Given the description of an element on the screen output the (x, y) to click on. 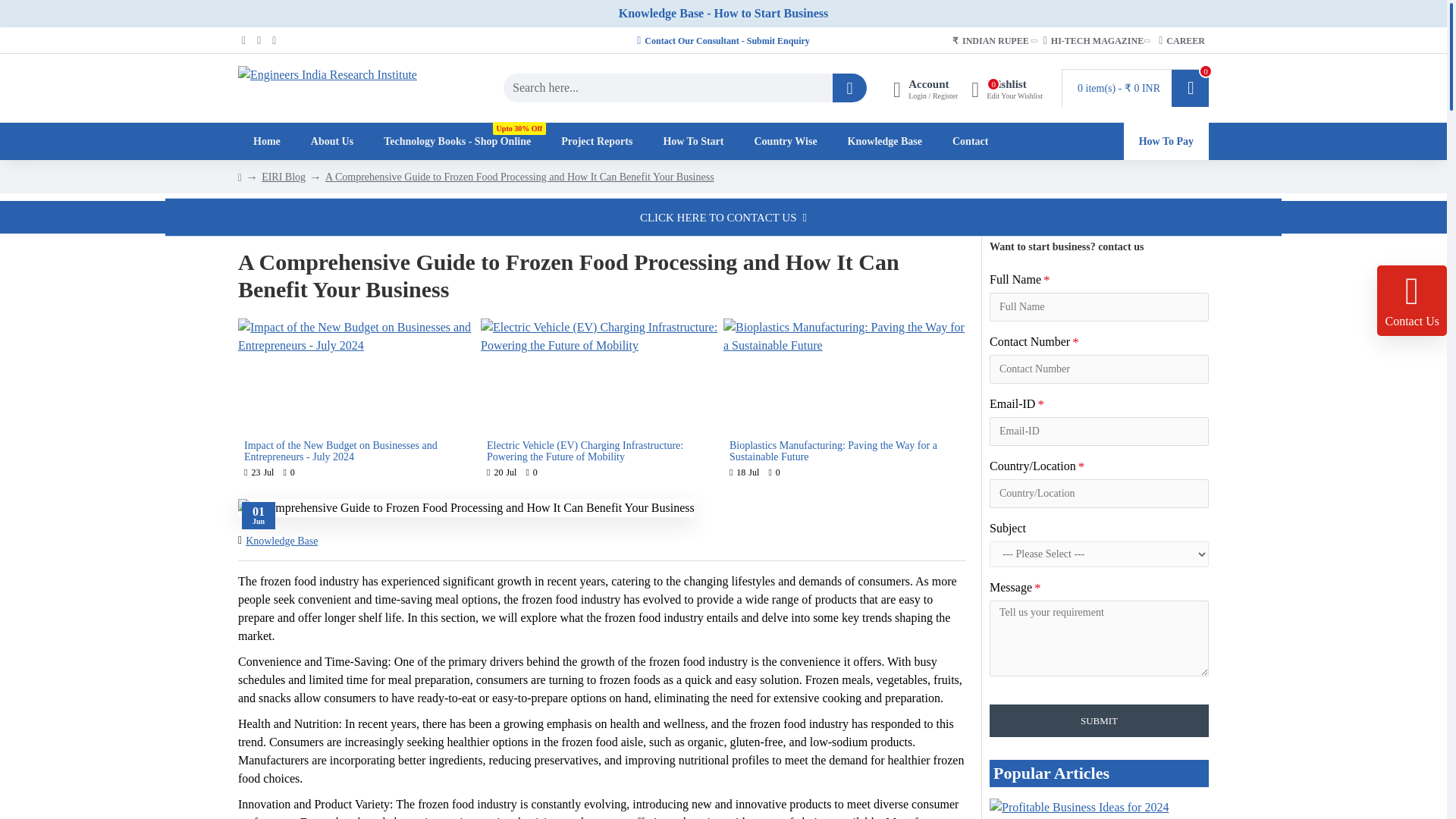
CAREER (1181, 40)
Knowledge Base - How to Start Business (723, 13)
Home (266, 140)
Profitable Business Ideas for 2024 (1099, 808)
How To Start (692, 140)
Project Reports (1007, 87)
